Given the description of an element on the screen output the (x, y) to click on. 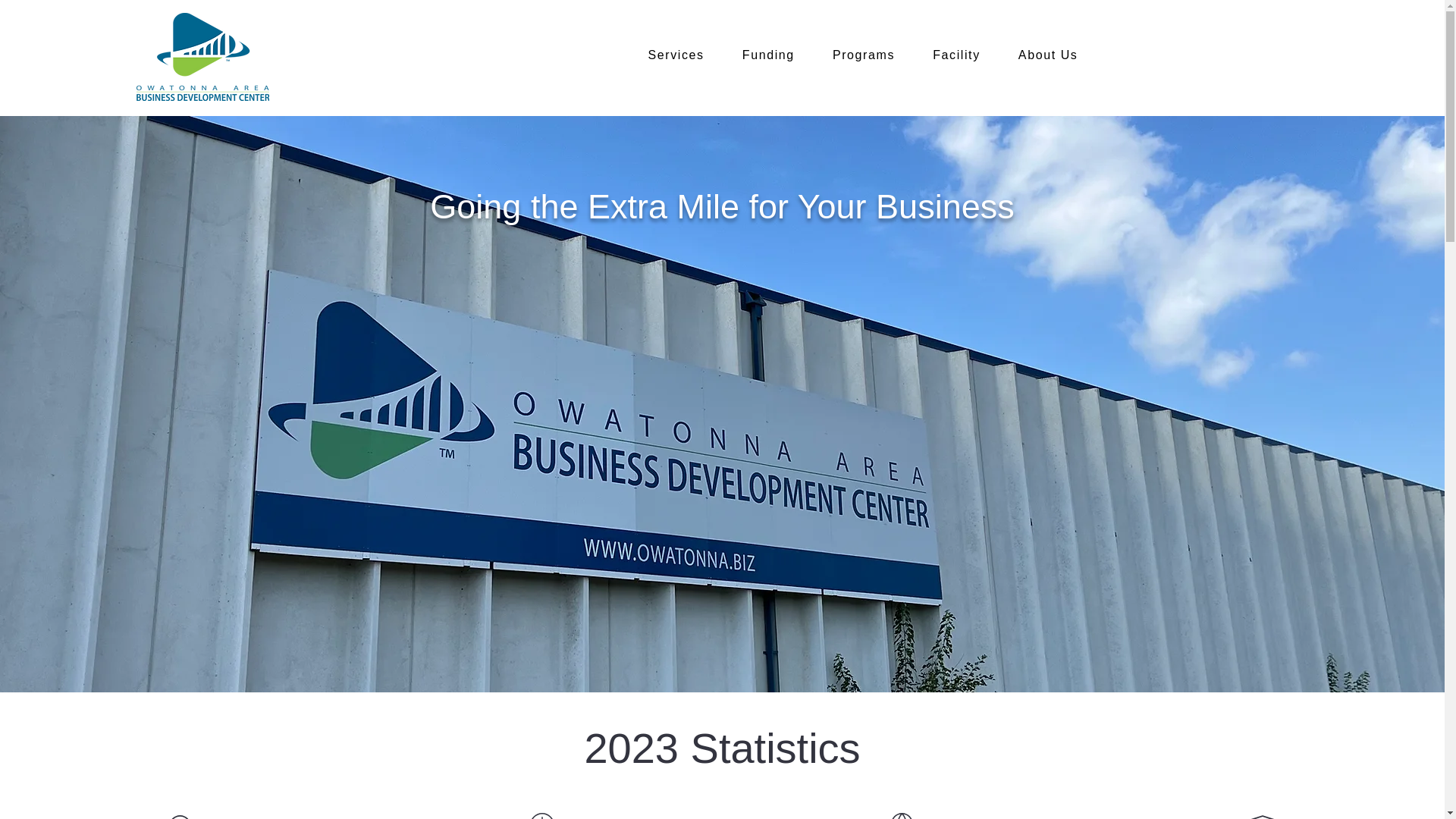
Programs (863, 55)
Services (675, 55)
About Us (1048, 55)
Funding (768, 55)
Facility (956, 55)
